Given the description of an element on the screen output the (x, y) to click on. 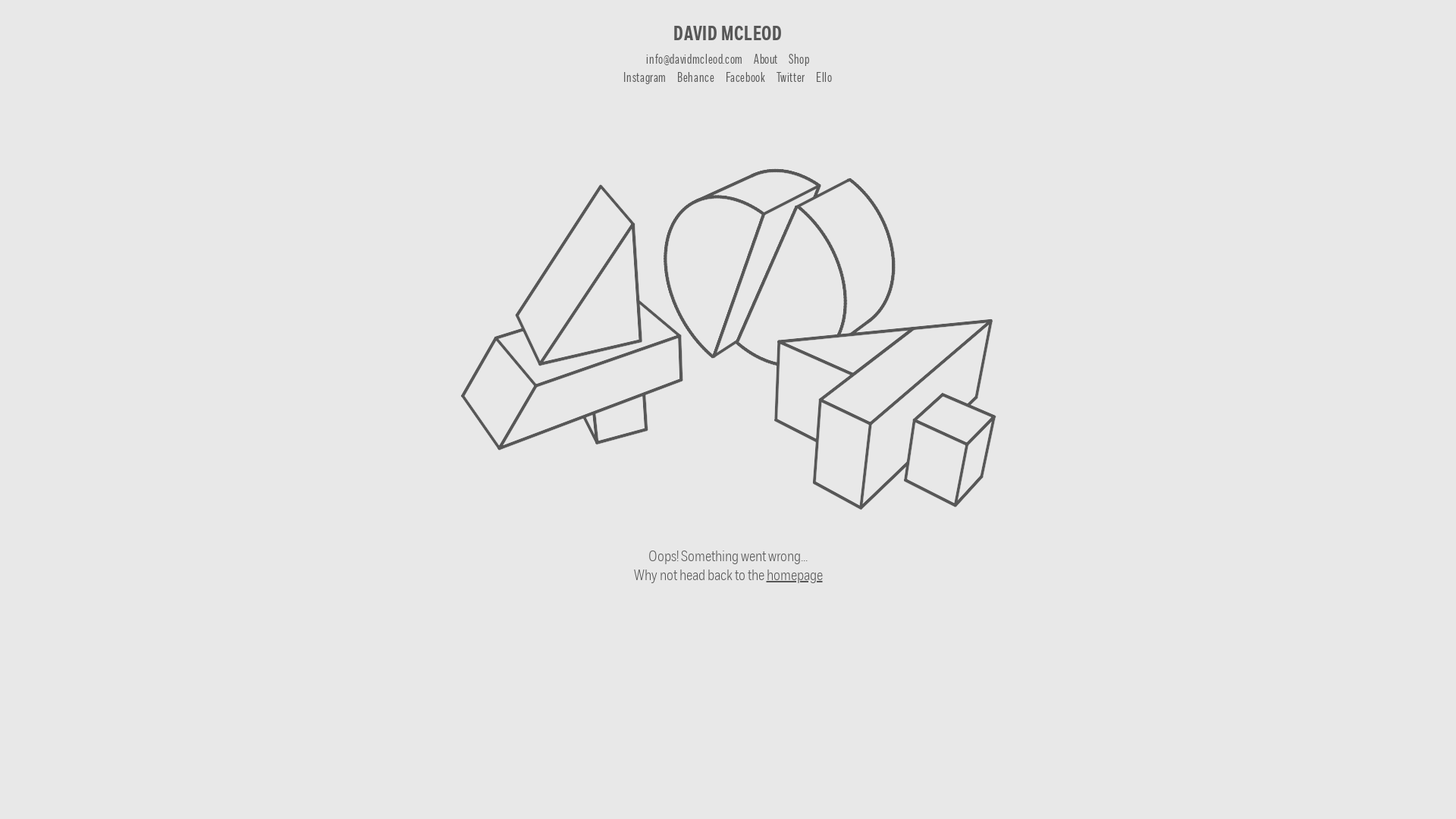
Ello Element type: text (823, 78)
Facebook Element type: text (745, 78)
Instagram Element type: text (644, 78)
Twitter Element type: text (790, 78)
About Element type: text (765, 60)
Shop Element type: text (798, 60)
homepage Element type: text (793, 575)
DAVID MCLEOD Element type: text (727, 34)
info@davidmcleod.com Element type: text (694, 60)
Behance Element type: text (695, 78)
